Given the description of an element on the screen output the (x, y) to click on. 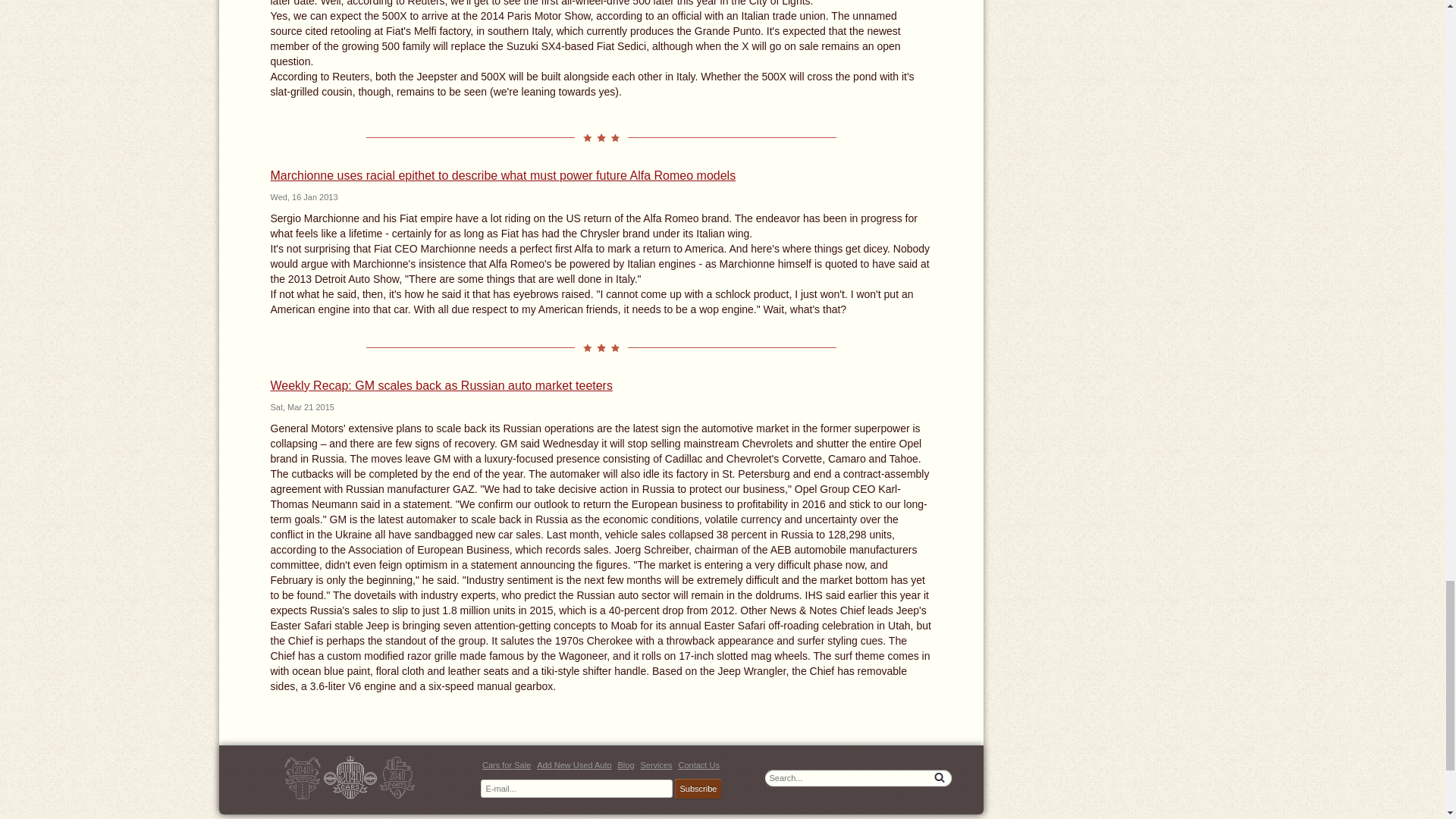
Subscribe (697, 788)
Contact Us (698, 764)
Cars for Sale (506, 764)
Weekly Recap: GM scales back as Russian auto market teeters (440, 385)
Services (655, 764)
Cars (350, 777)
Add New Used Auto (574, 764)
Blog (625, 764)
Subscribe (697, 788)
